Given the description of an element on the screen output the (x, y) to click on. 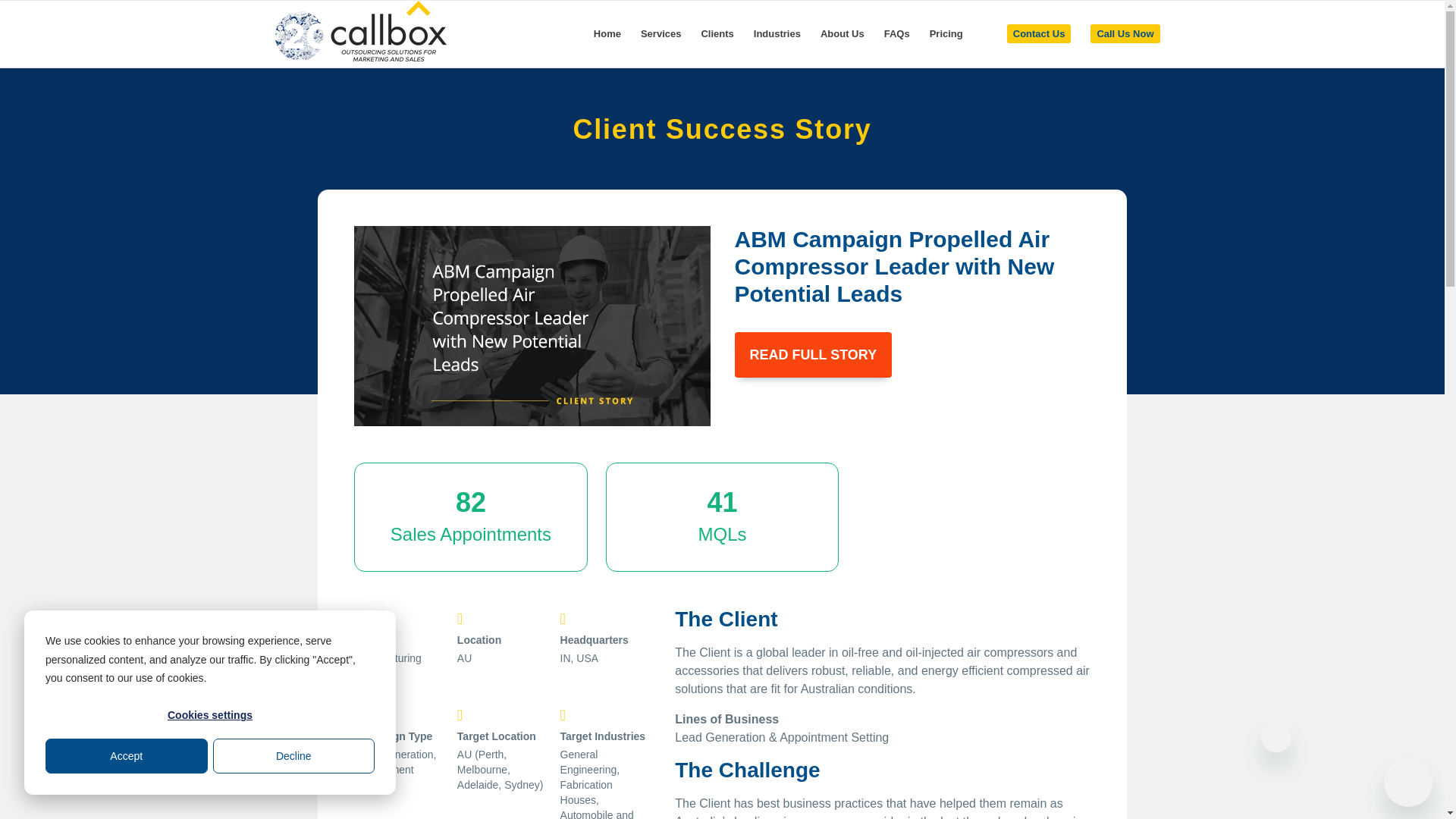
Services (660, 33)
Industries (777, 33)
Callbox - B2B Lead Generation Services (360, 33)
Callbox - B2B Lead Generation Services (360, 30)
About Us (842, 33)
